Given the description of an element on the screen output the (x, y) to click on. 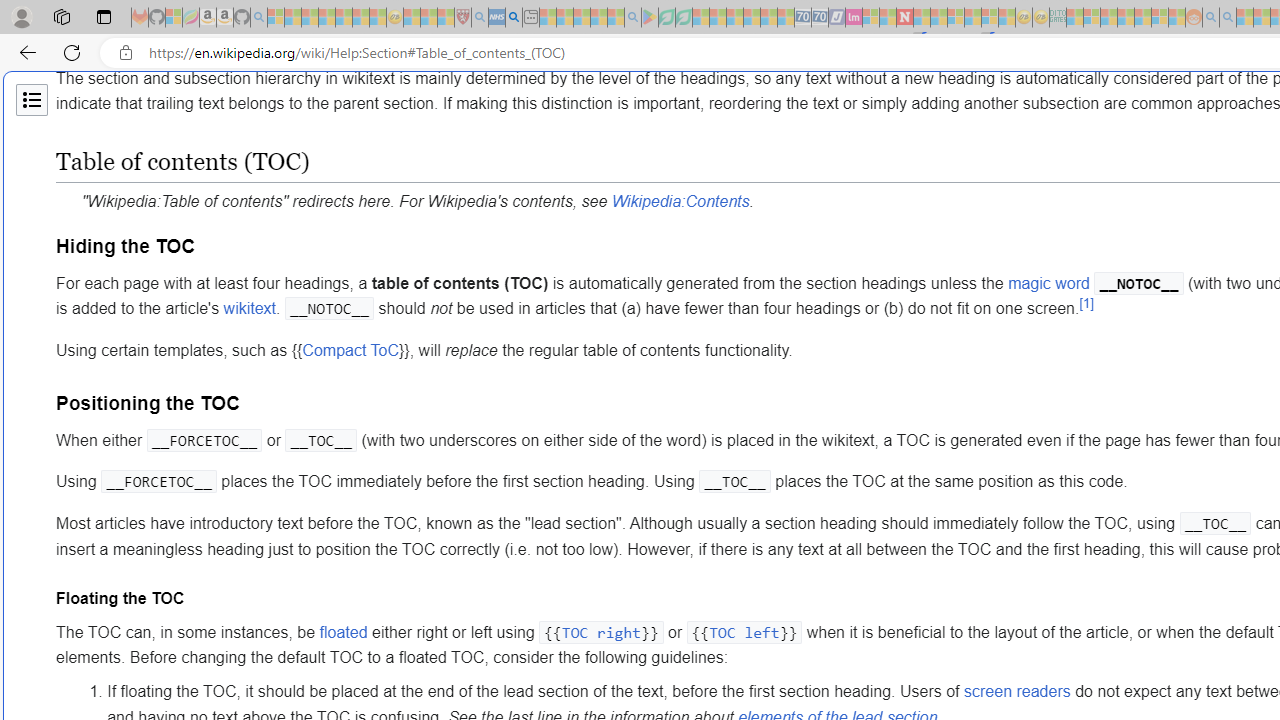
magic word (1049, 283)
Bluey: Let's Play! - Apps on Google Play - Sleeping (649, 17)
Terms of Use Agreement - Sleeping (666, 17)
screen readers (1017, 692)
